Given the description of an element on the screen output the (x, y) to click on. 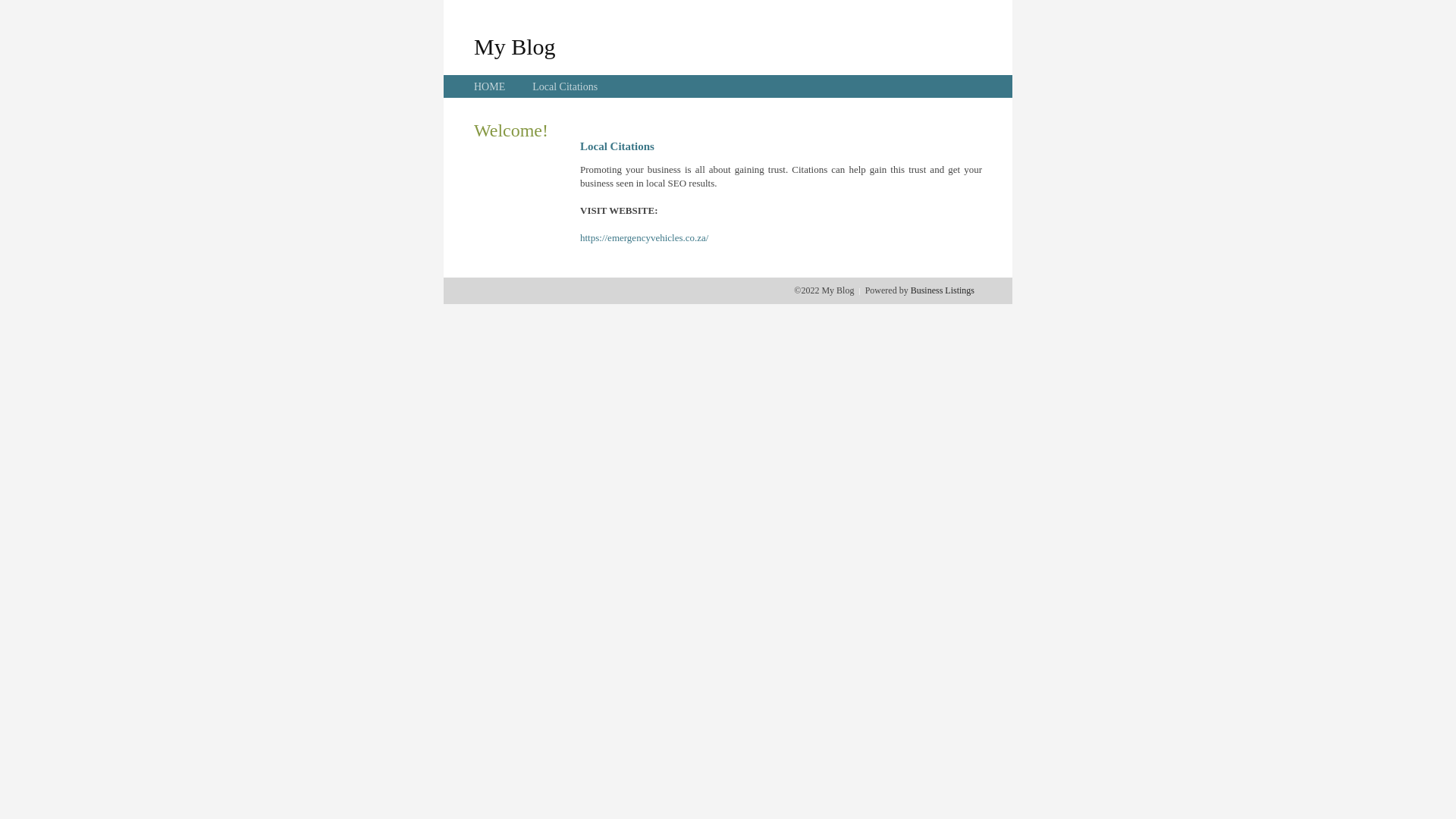
My Blog Element type: text (514, 46)
HOME Element type: text (489, 86)
Business Listings Element type: text (942, 290)
Local Citations Element type: text (564, 86)
https://emergencyvehicles.co.za/ Element type: text (644, 237)
